Given the description of an element on the screen output the (x, y) to click on. 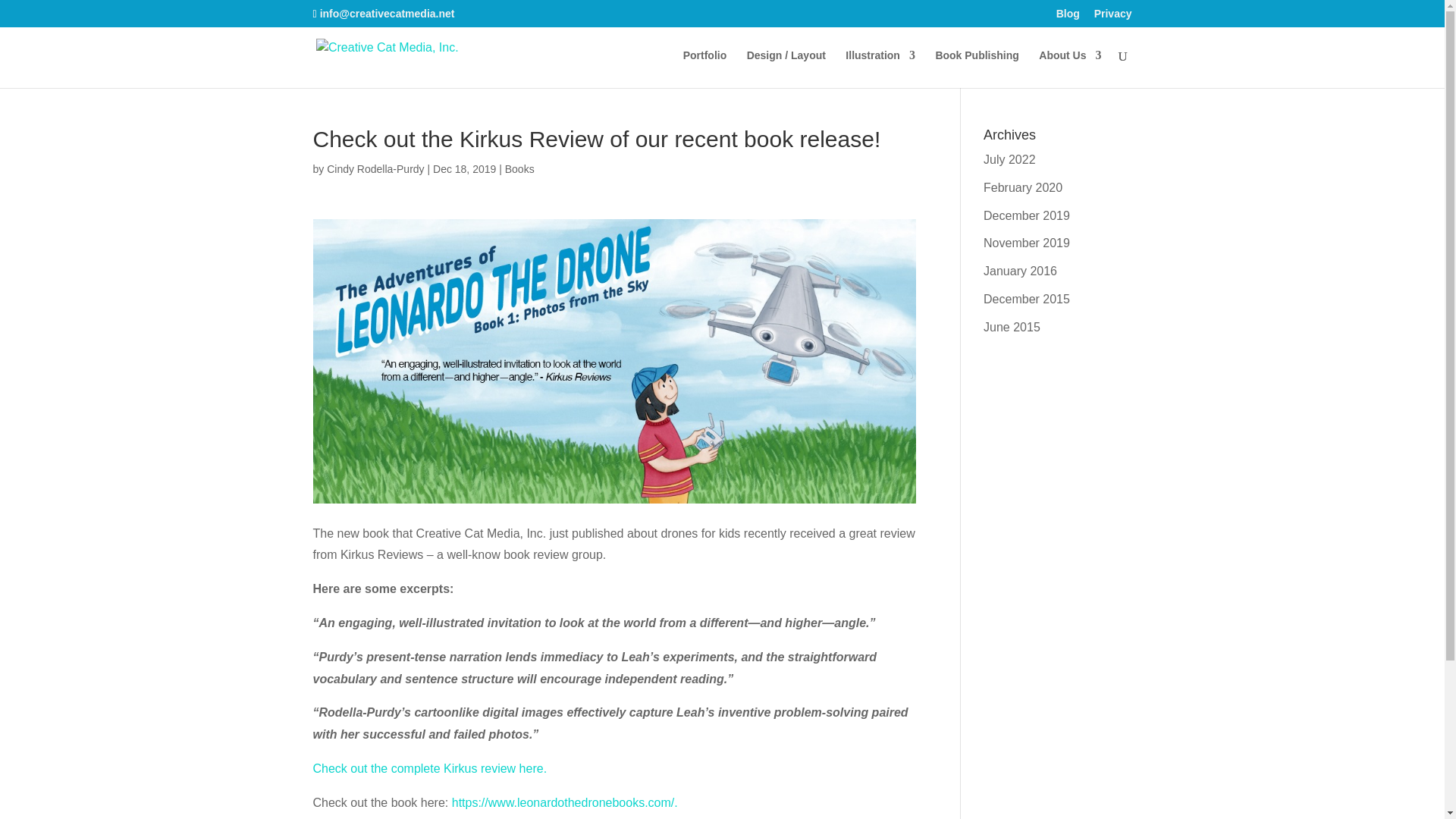
Check out the complete Kirkus review here. (430, 768)
Cindy Rodella-Purdy (374, 168)
December 2019 (1027, 215)
Posts by Cindy Rodella-Purdy (374, 168)
Privacy (1113, 16)
Illustration (880, 68)
Portfolio (704, 68)
Blog (1068, 16)
About Us (1069, 68)
January 2016 (1020, 270)
